Given the description of an element on the screen output the (x, y) to click on. 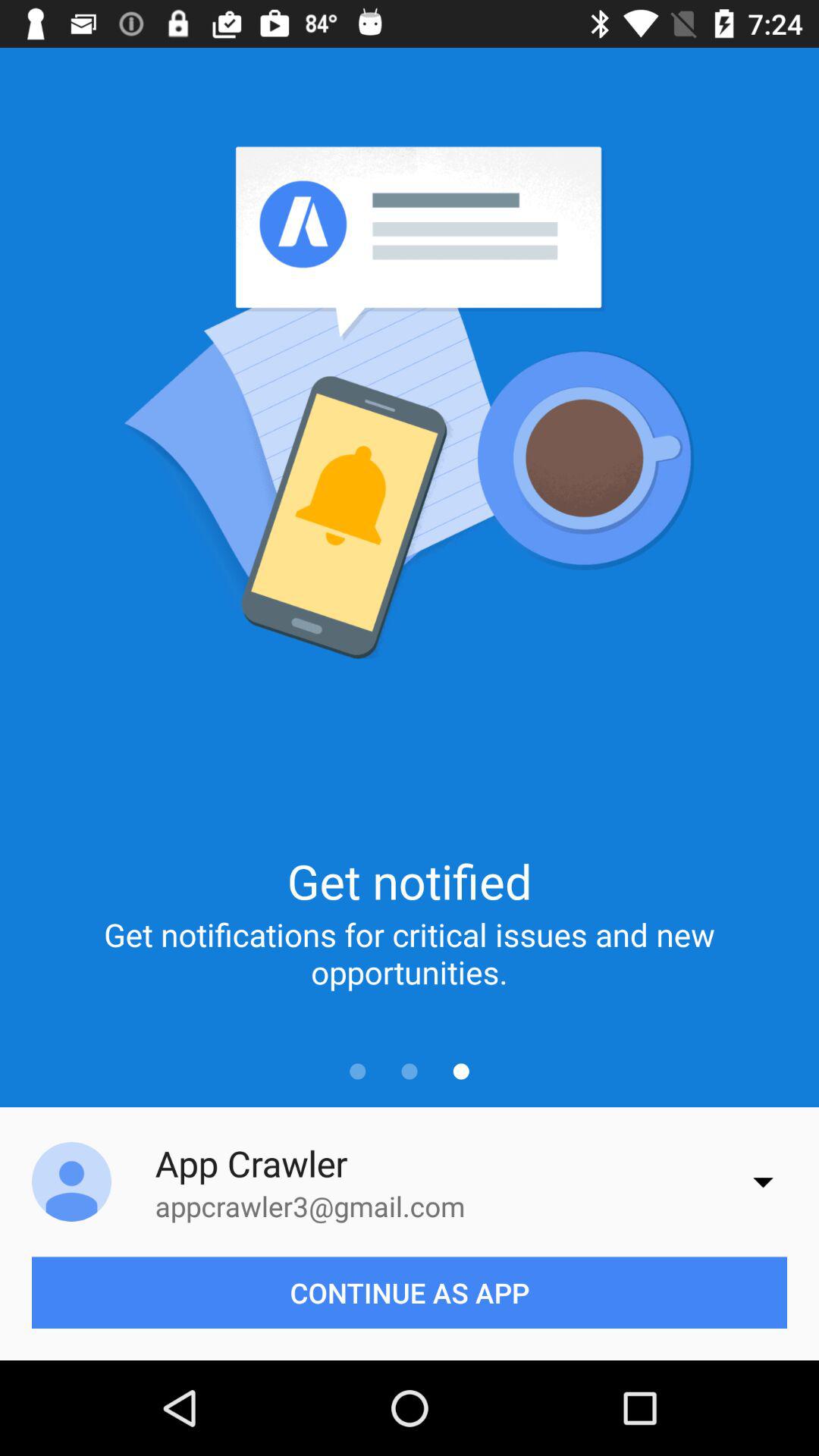
tap continue as app item (409, 1292)
